Given the description of an element on the screen output the (x, y) to click on. 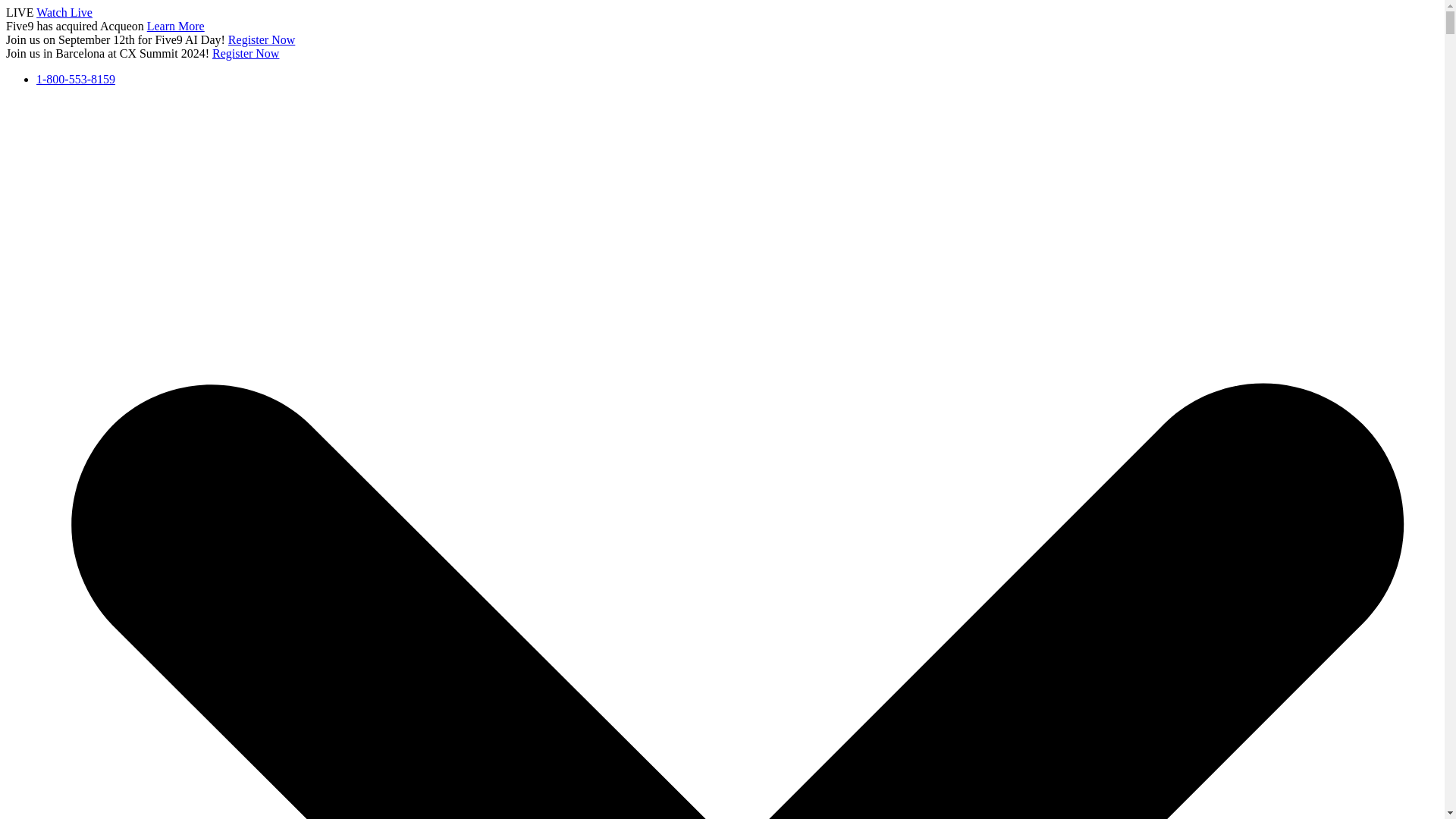
1-800-553-8159 (75, 78)
Register Now (245, 52)
Watch Live (64, 11)
Learn More (176, 25)
Register Now (261, 39)
